Given the description of an element on the screen output the (x, y) to click on. 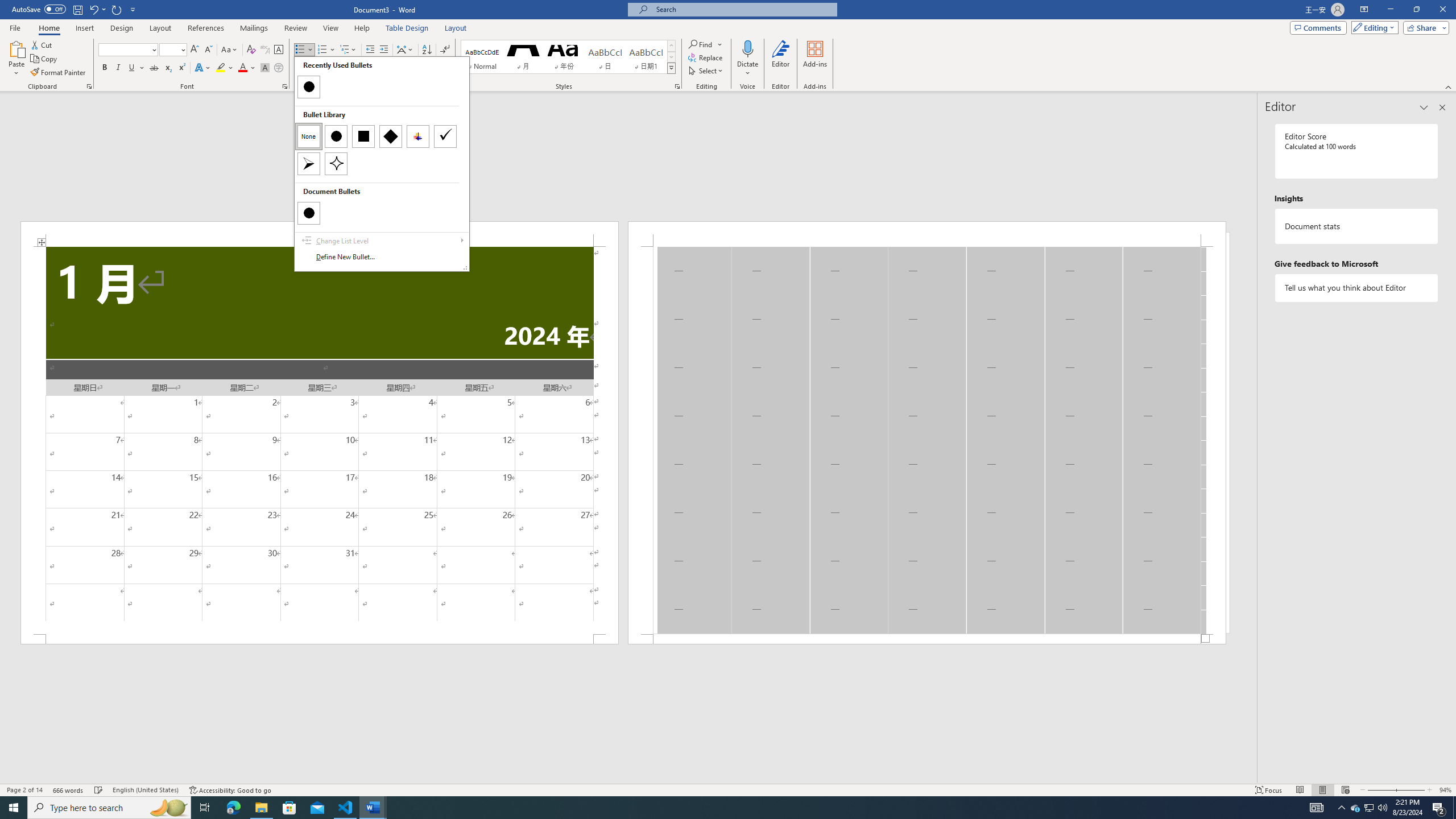
Zoom In (1410, 790)
Microsoft Store (289, 807)
Word - 2 running windows (373, 807)
Shrink Font (208, 49)
Format Painter (1355, 807)
Mode (58, 72)
Office Clipboard... (1372, 27)
Close pane (88, 85)
Sort... (1441, 107)
Restore Down (426, 49)
Repeat Doc Close (1416, 9)
Numbering (117, 9)
Superscript (322, 49)
Paste (180, 67)
